Given the description of an element on the screen output the (x, y) to click on. 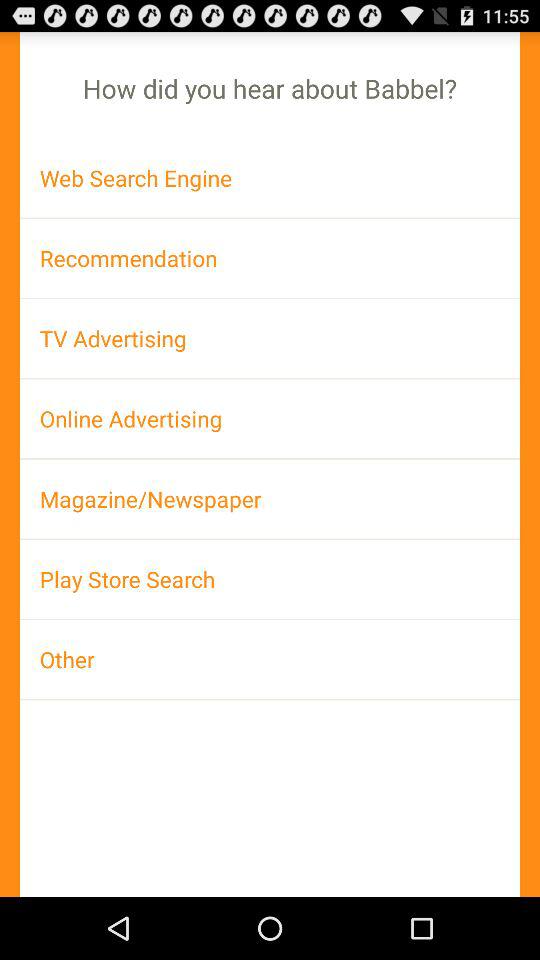
click item above online advertising app (269, 338)
